Given the description of an element on the screen output the (x, y) to click on. 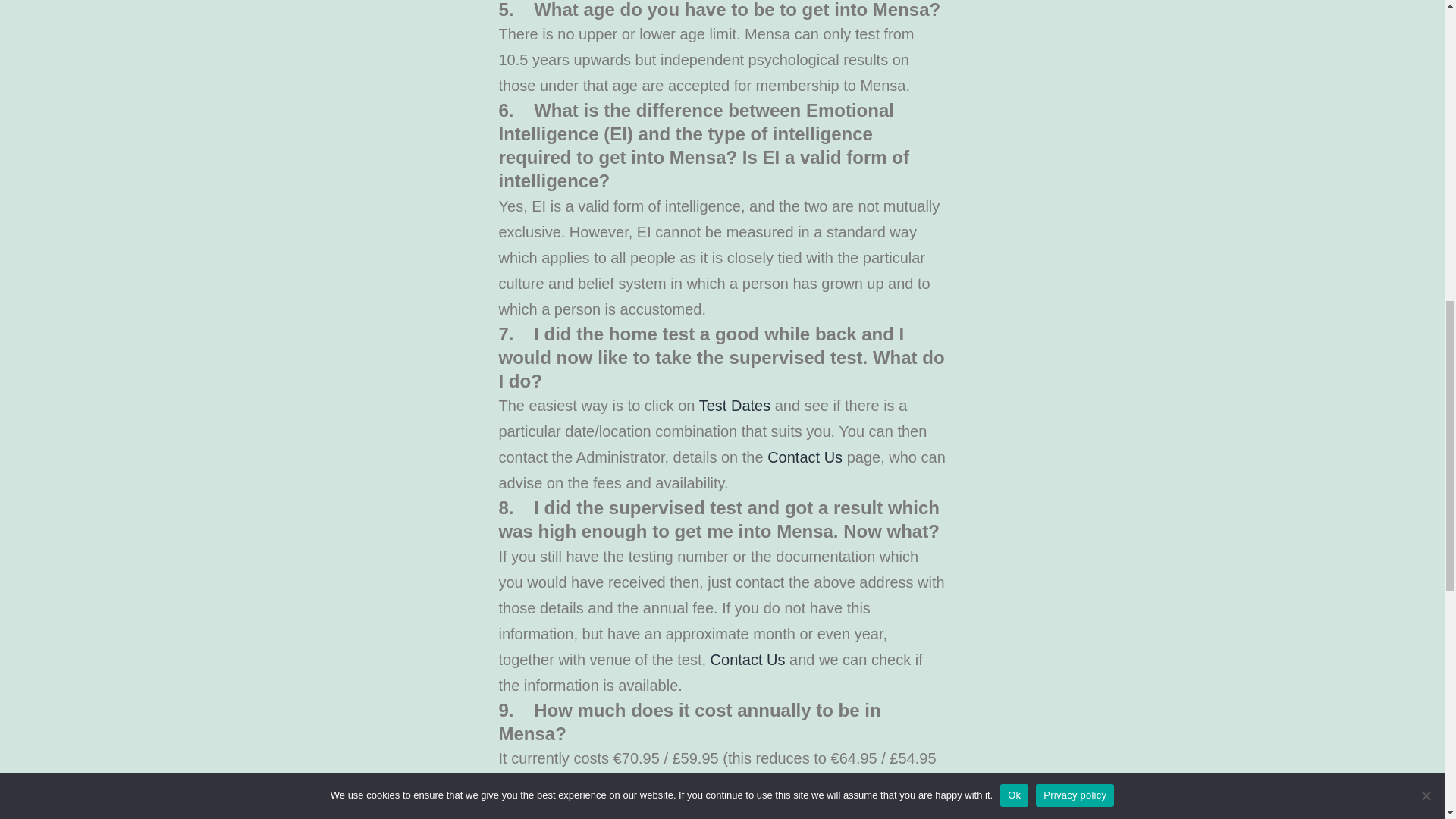
Contact (748, 659)
Contact (805, 457)
Contact Us (805, 457)
Test dates (734, 405)
Test Dates (734, 405)
Contact Us (748, 659)
